Given the description of an element on the screen output the (x, y) to click on. 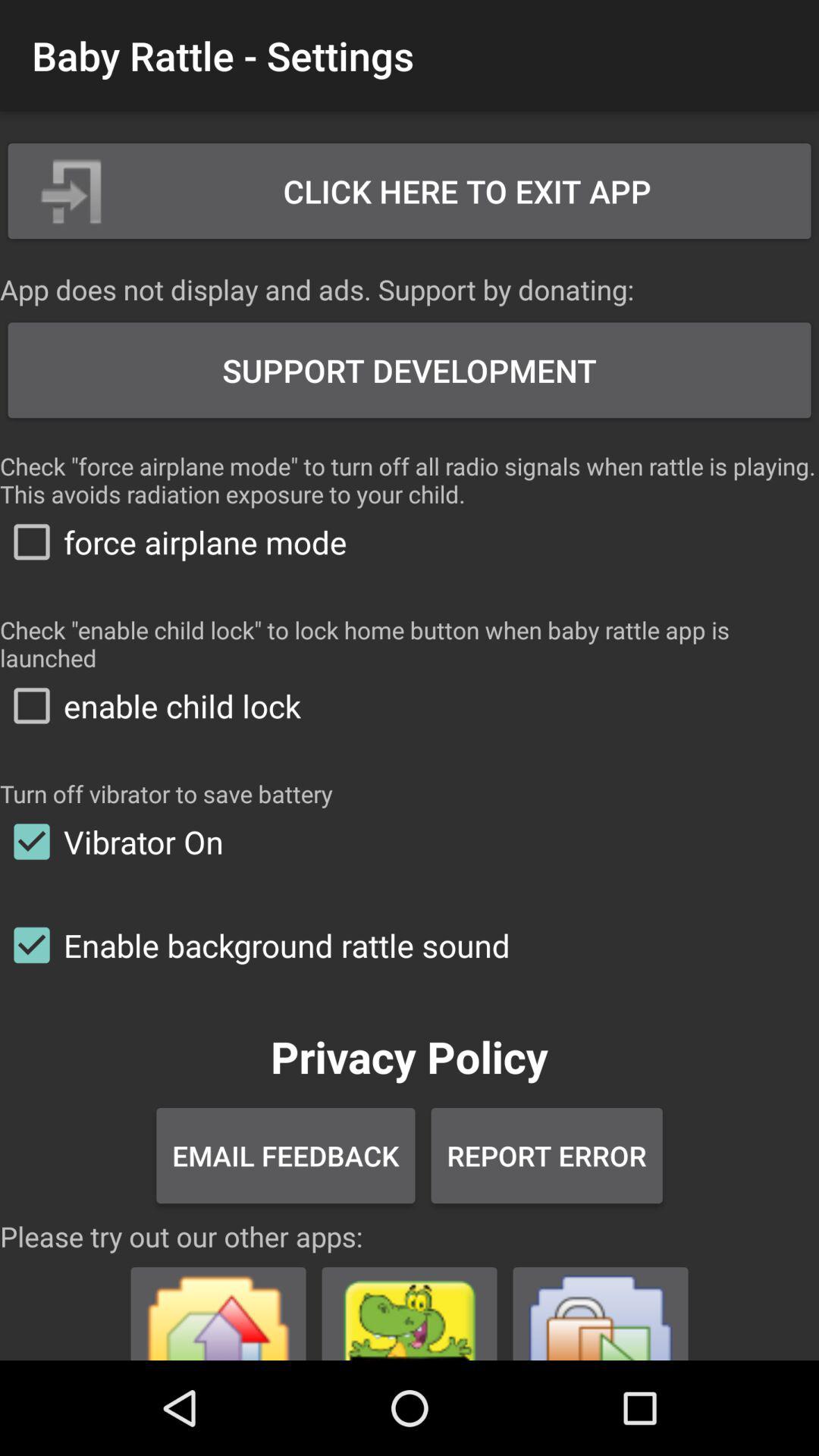
select another app (217, 1307)
